Given the description of an element on the screen output the (x, y) to click on. 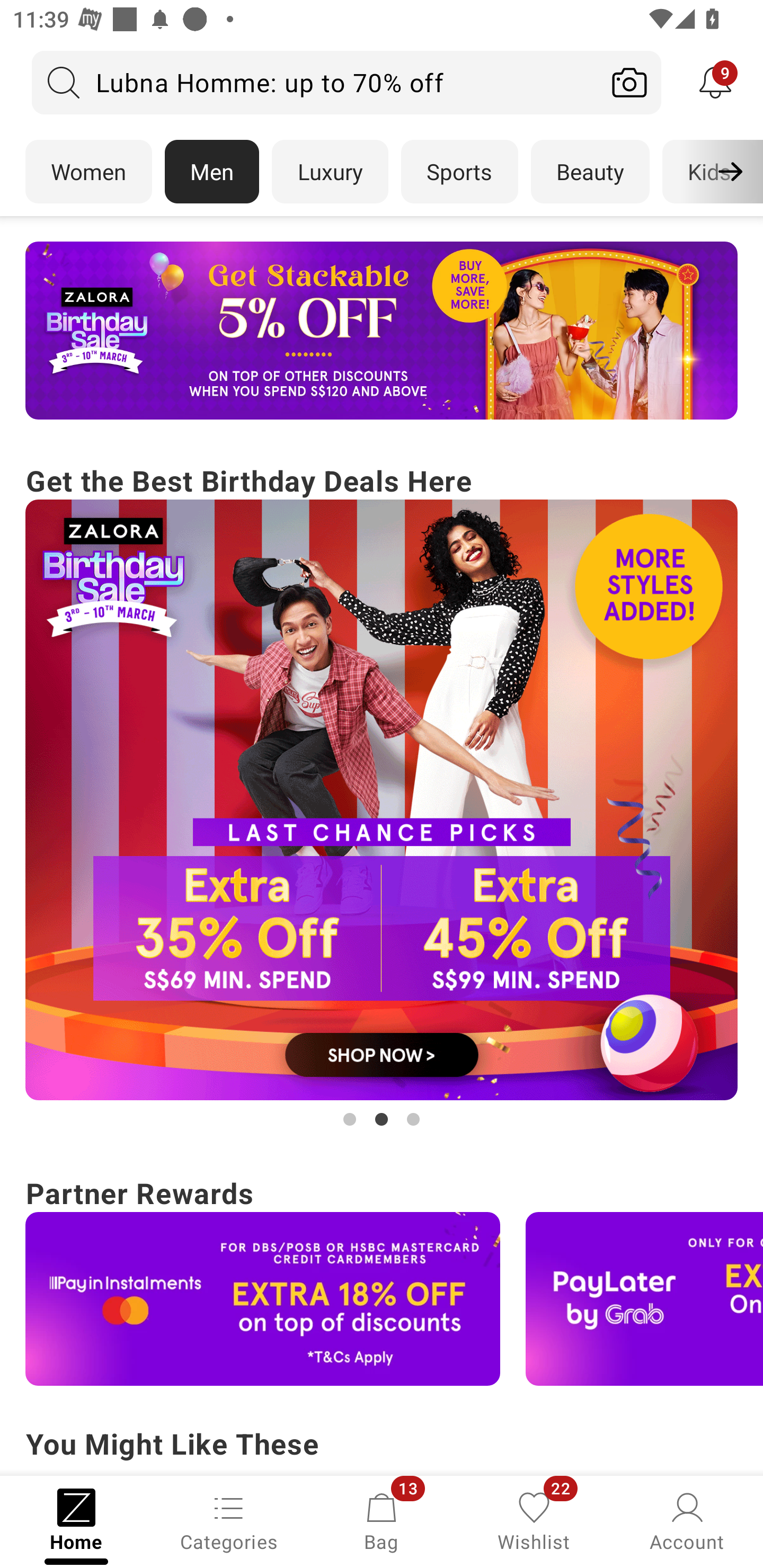
Lubna Homme: up to 70% off (314, 82)
Women (88, 171)
Men (211, 171)
Luxury (329, 171)
Sports (459, 171)
Beauty (590, 171)
Campaign banner (381, 330)
Get the Best Birthday Deals Here Campaign banner (381, 794)
Campaign banner (381, 800)
Partner Rewards Campaign banner Campaign banner (381, 1277)
Campaign banner (262, 1299)
Campaign banner (644, 1299)
Categories (228, 1519)
Bag, 13 new notifications Bag (381, 1519)
Wishlist, 22 new notifications Wishlist (533, 1519)
Account (686, 1519)
